Given the description of an element on the screen output the (x, y) to click on. 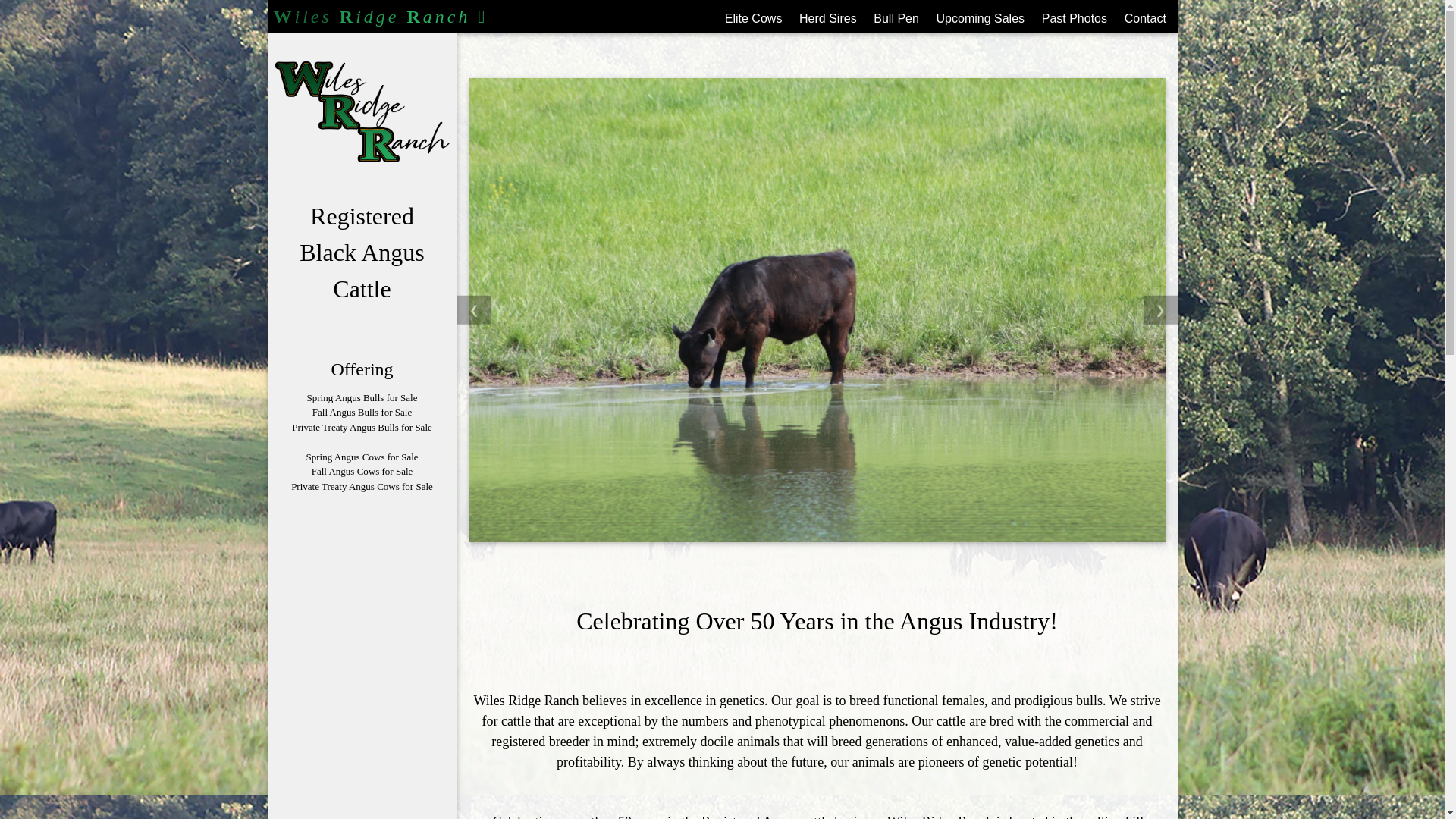
Wiles Ridge Ranch (379, 16)
Elite Cows  (756, 16)
Herd Sires  (830, 16)
